Given the description of an element on the screen output the (x, y) to click on. 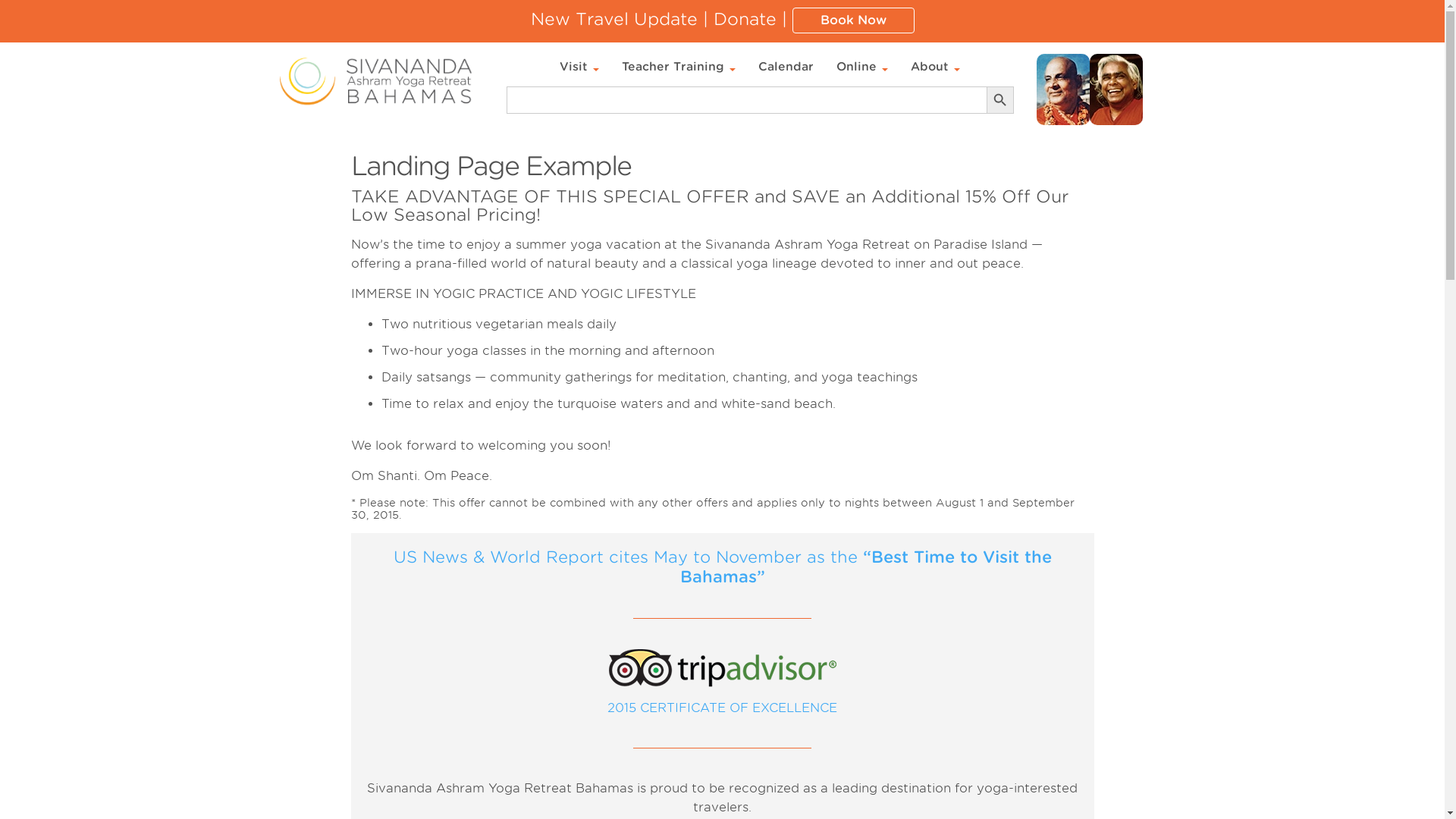
Online (862, 66)
Teacher Training (678, 66)
Book Now (853, 20)
New Travel Update (614, 18)
Visit (579, 66)
Calendar (785, 66)
Donate (744, 18)
